Given the description of an element on the screen output the (x, y) to click on. 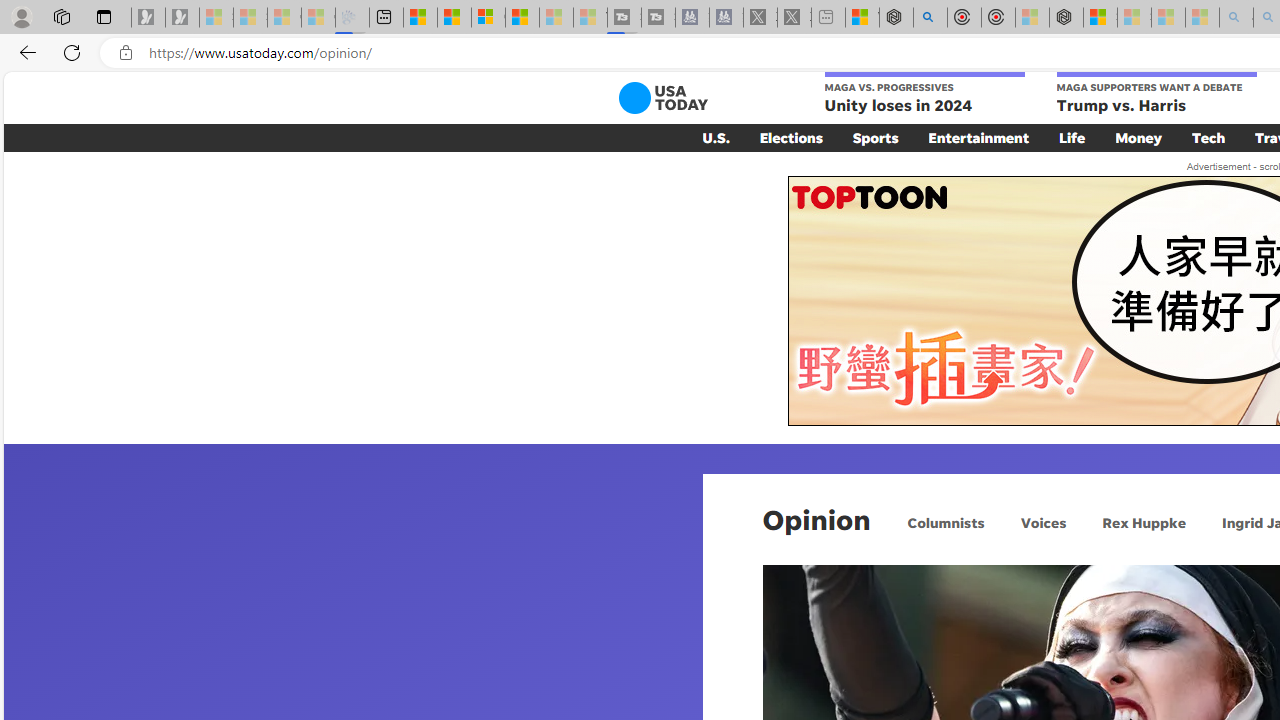
Money (1138, 137)
Newsletter Sign Up - Sleeping (182, 17)
Sports (875, 137)
poe - Search (930, 17)
Entertainment (978, 137)
amazon - Search - Sleeping (1236, 17)
U.S. (715, 137)
MAGA SUPPORTERS WANT A DEBATE Trump vs. Harris (1156, 94)
